Given the description of an element on the screen output the (x, y) to click on. 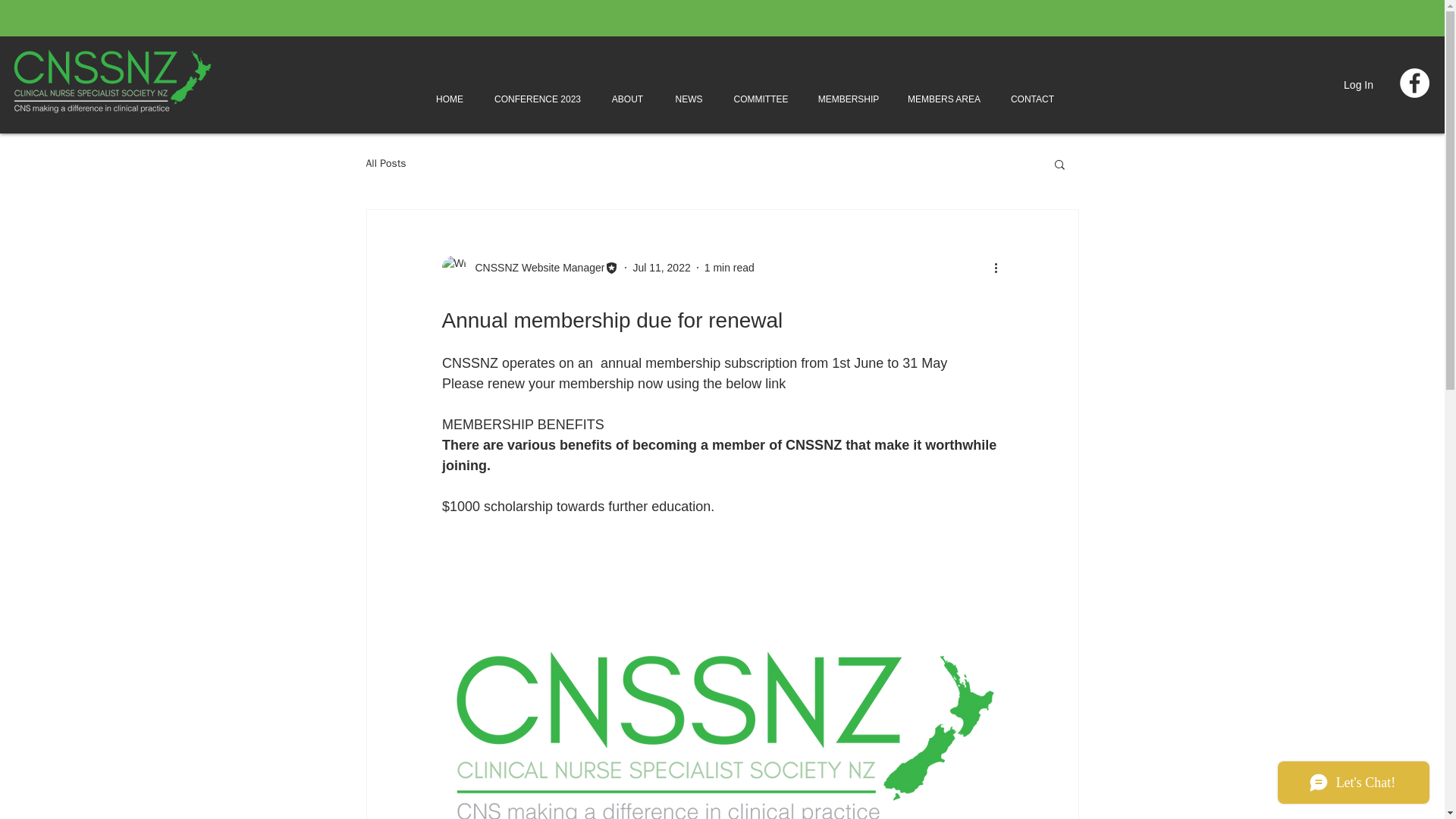
Log In (1358, 85)
NEWS (689, 99)
CNSSNZ Website Manager (529, 267)
All Posts (385, 163)
MEMBERSHIP (848, 99)
1 min read (729, 266)
MEMBERS AREA (943, 99)
CONFERENCE 2023 (537, 99)
HOME (450, 99)
CNSSNZ Website Manager (534, 267)
CONTACT (1032, 99)
COMMITTEE (761, 99)
Jul 11, 2022 (660, 266)
